Given the description of an element on the screen output the (x, y) to click on. 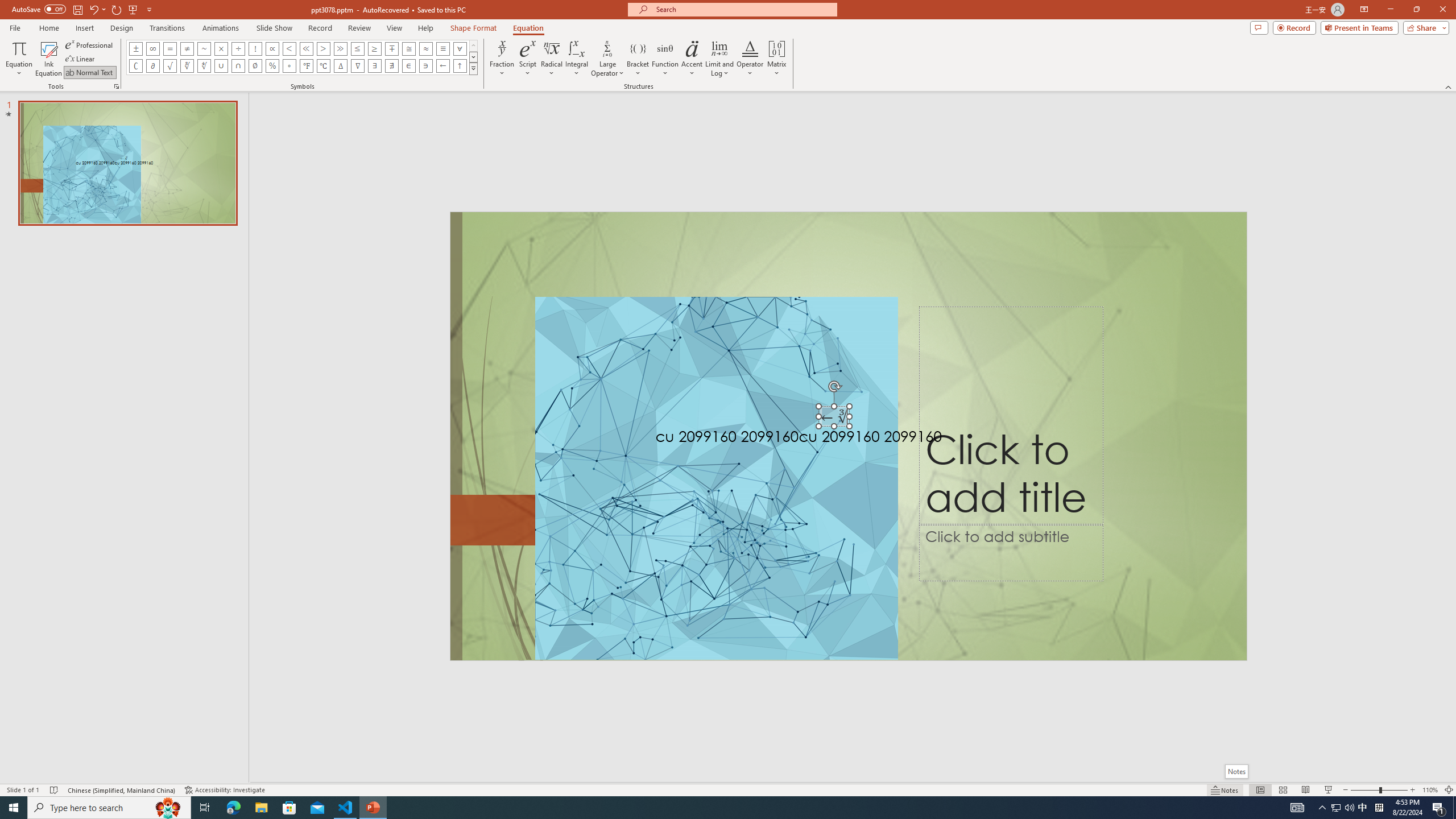
Equation Symbol Division Sign (238, 48)
Equation Symbol Percentage (272, 65)
Equation Symbol Cube Root (187, 65)
Equation Symbol Degrees Celsius (322, 65)
Equation Symbol Increment (340, 65)
Integral (576, 58)
Equation Symbol Multiplication Sign (221, 48)
Equation Symbol Less Than (289, 48)
AutomationID: EquationSymbolsInsertGallery (302, 57)
